Given the description of an element on the screen output the (x, y) to click on. 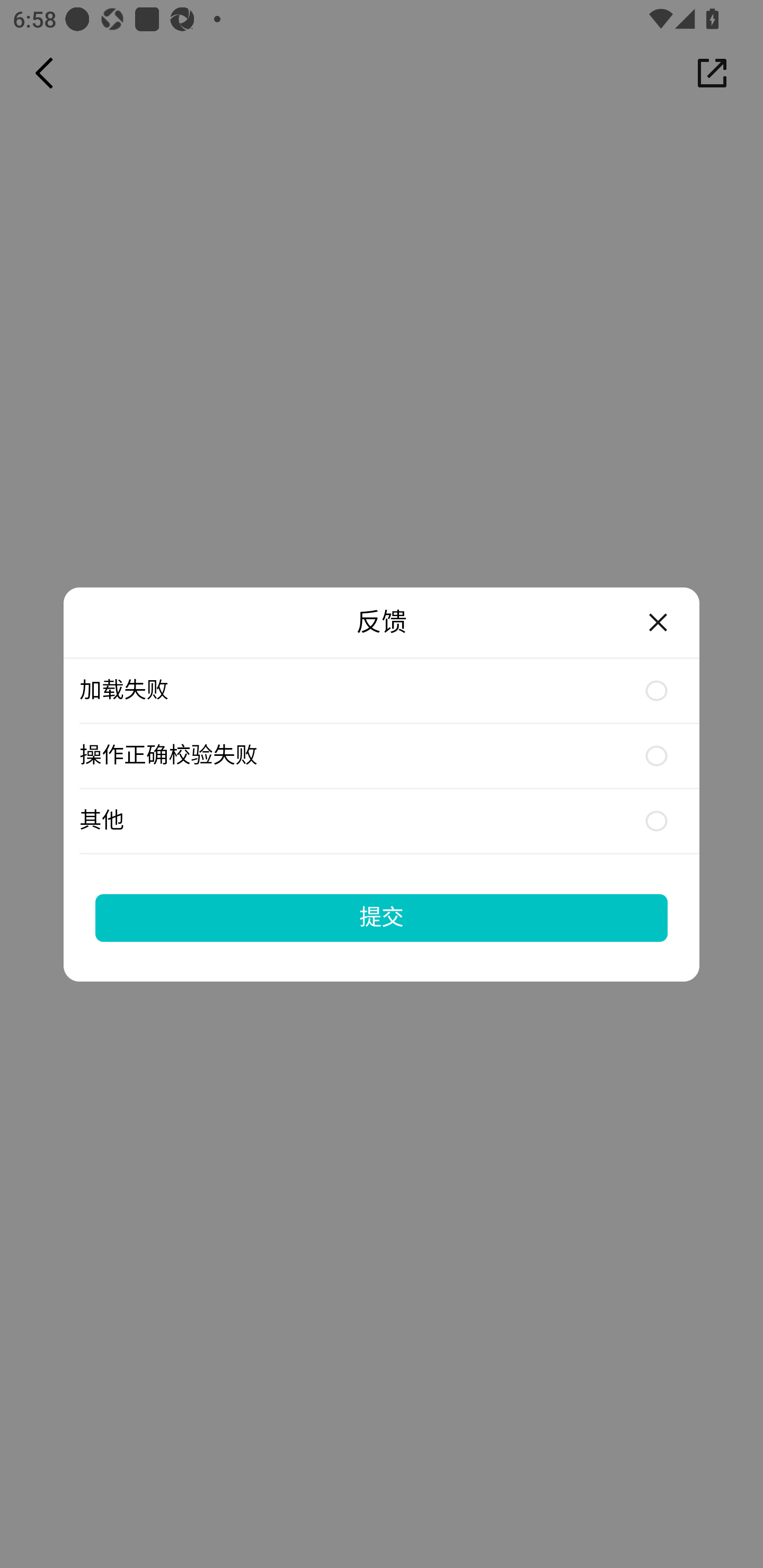
提交 (381, 917)
